Given the description of an element on the screen output the (x, y) to click on. 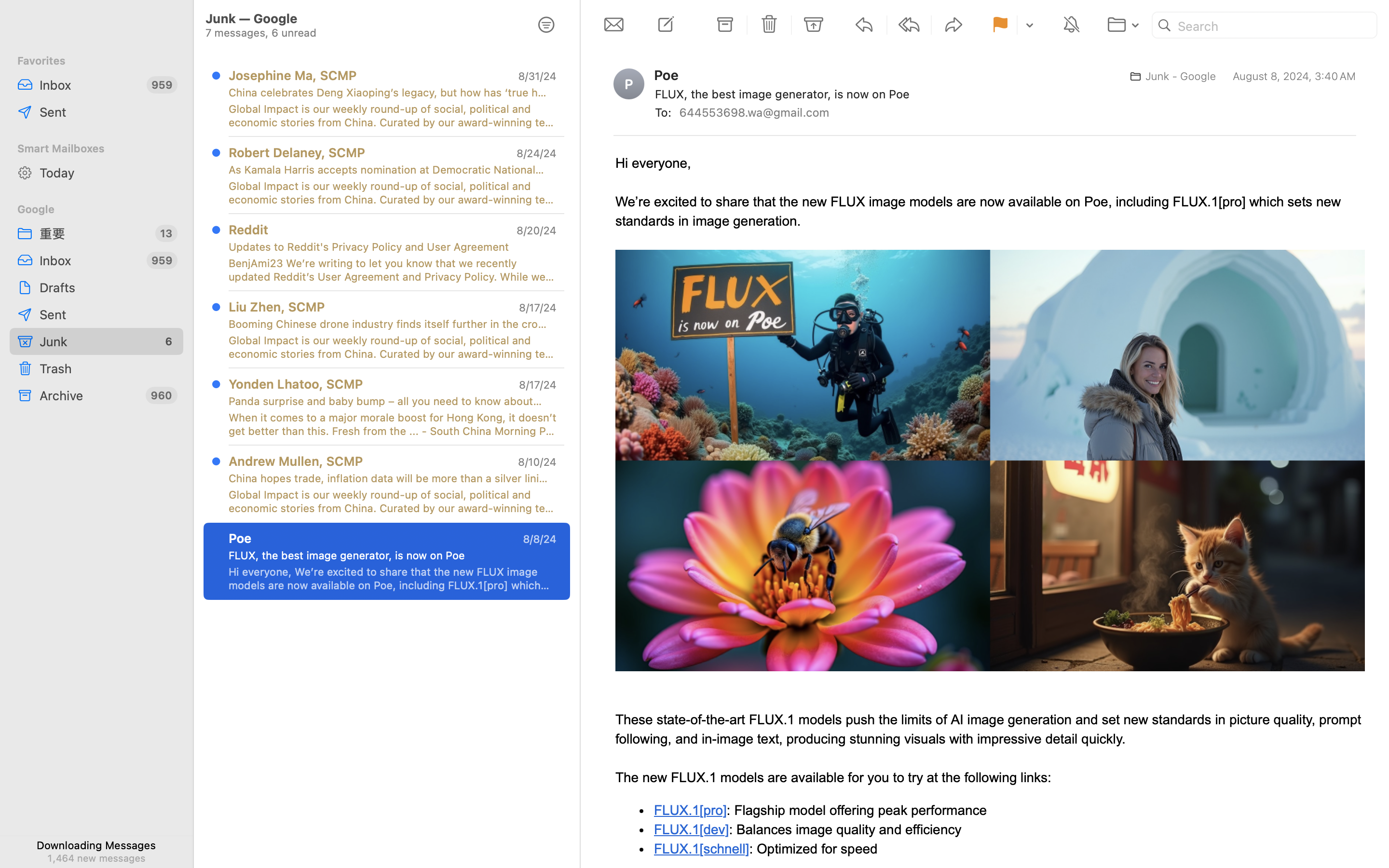
Global Impact is our weekly round-up of social, political and economic stories from China. Curated by our award-winning team of ... - South China Morning Post, SCMP, Global Impact - Global Impact is our weekly round-up of social, political and economic stories from China. Curated by our award-winning team of ... This newsletter is now only available to our digital subscribers. Subscribe to a 1-year plan with a 25% discount for the first year to continue to receive this newsletter along with unlimited access to SCMP.com. Was this newsletter forwarded to you? Sign up here China politics & diplomacy Harris-Walz in the spotlight over China ties as Democratic National Convention rubber-stamps ticket Andrew Mullen Deputy Editor, Political Economy 24 August 2024 Global Impact is our weekly round-up of social, political and economic stories from China. Curated by our award-winning team of journalists, this must-read newsletter explores the impact and significance of those stories around the gl Element type: AXStaticText (392, 192)
Josephine Ma, SCMP Element type: AXStaticText (292, 74)
1,464 new messages Element type: AXStaticText (95, 857)
Reddit Element type: AXStaticText (248, 229)
Archive Element type: AXStaticText (88, 395)
